Given the description of an element on the screen output the (x, y) to click on. 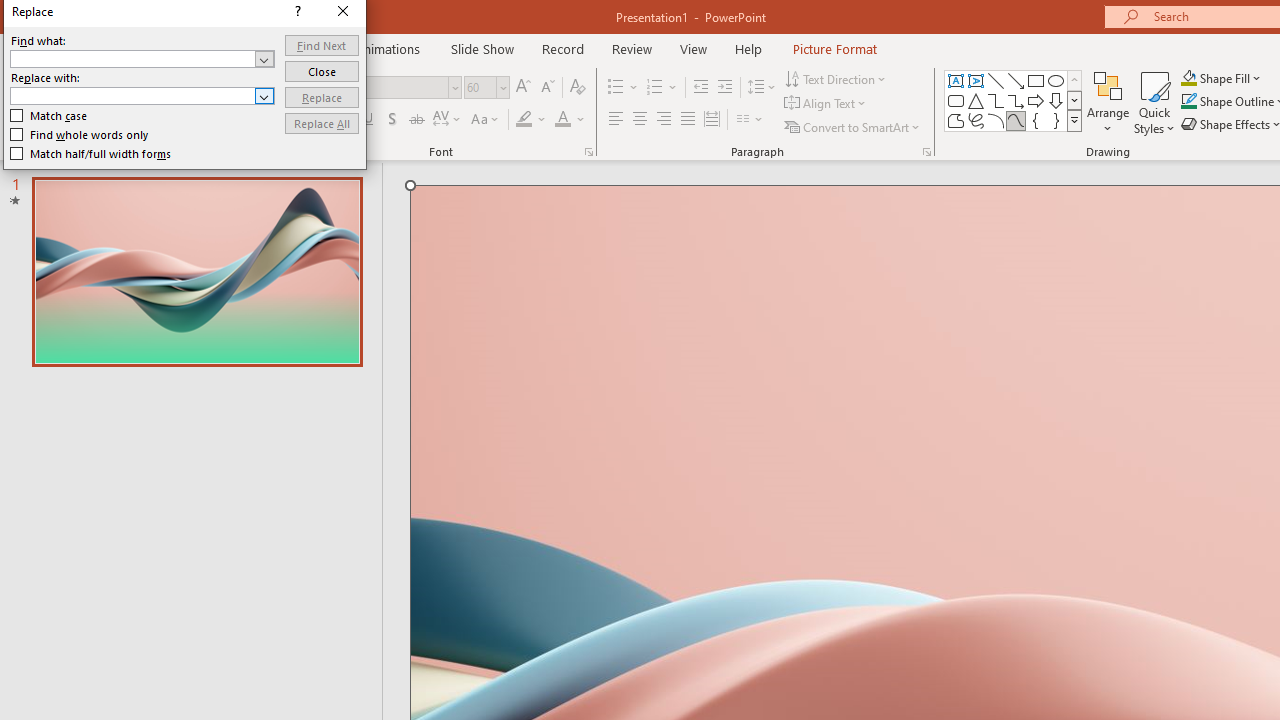
Center (639, 119)
Find whole words only (79, 134)
Text Highlight Color Yellow (524, 119)
Line Spacing (762, 87)
Replace with (132, 95)
Shape Outline Blue, Accent 1 (1188, 101)
Justify (687, 119)
Arc (995, 120)
